Given the description of an element on the screen output the (x, y) to click on. 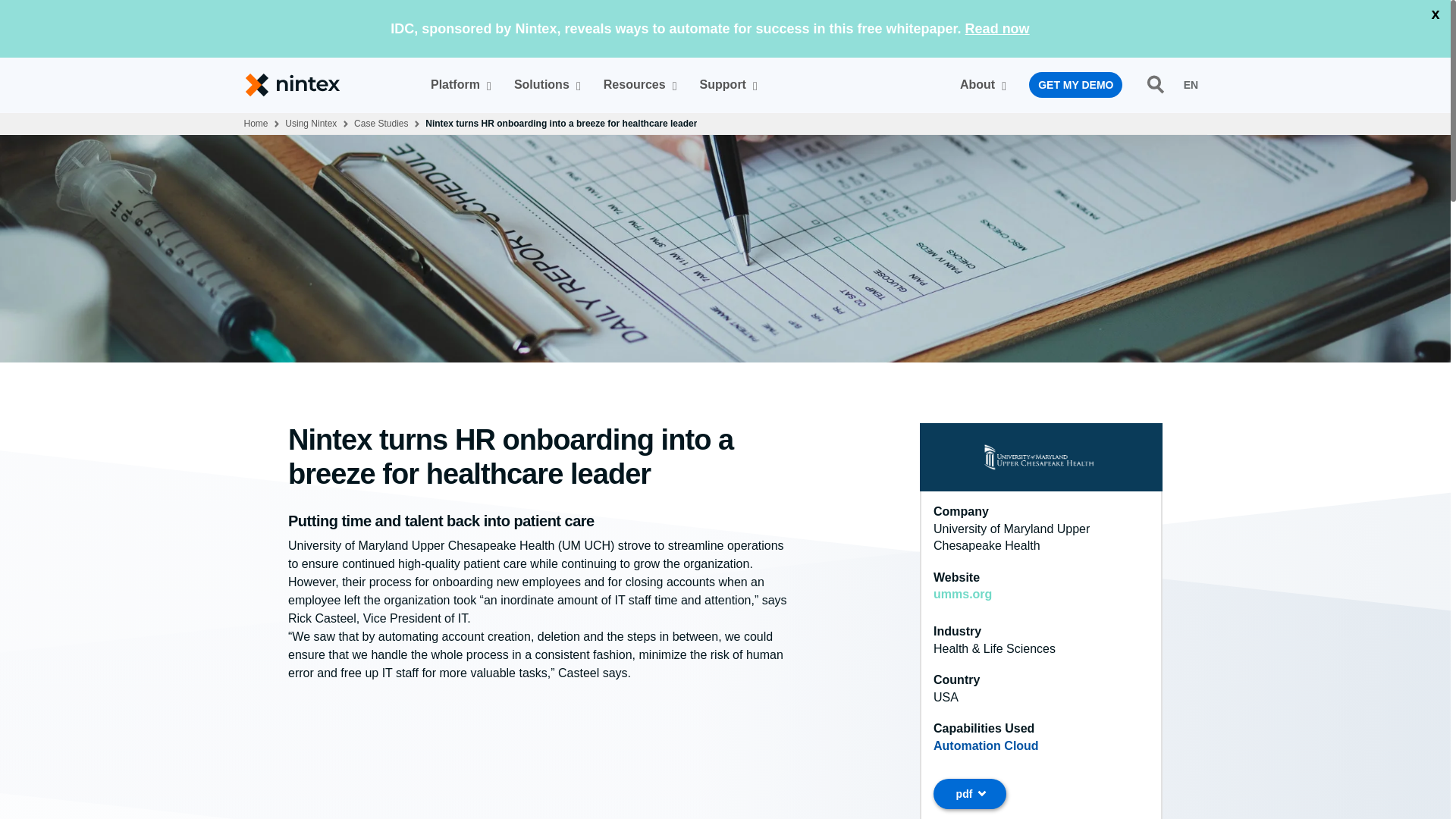
Skip Navigation (776, 84)
English (456, 84)
Nintex (1189, 84)
Solutions (299, 84)
Resources (543, 84)
